Given the description of an element on the screen output the (x, y) to click on. 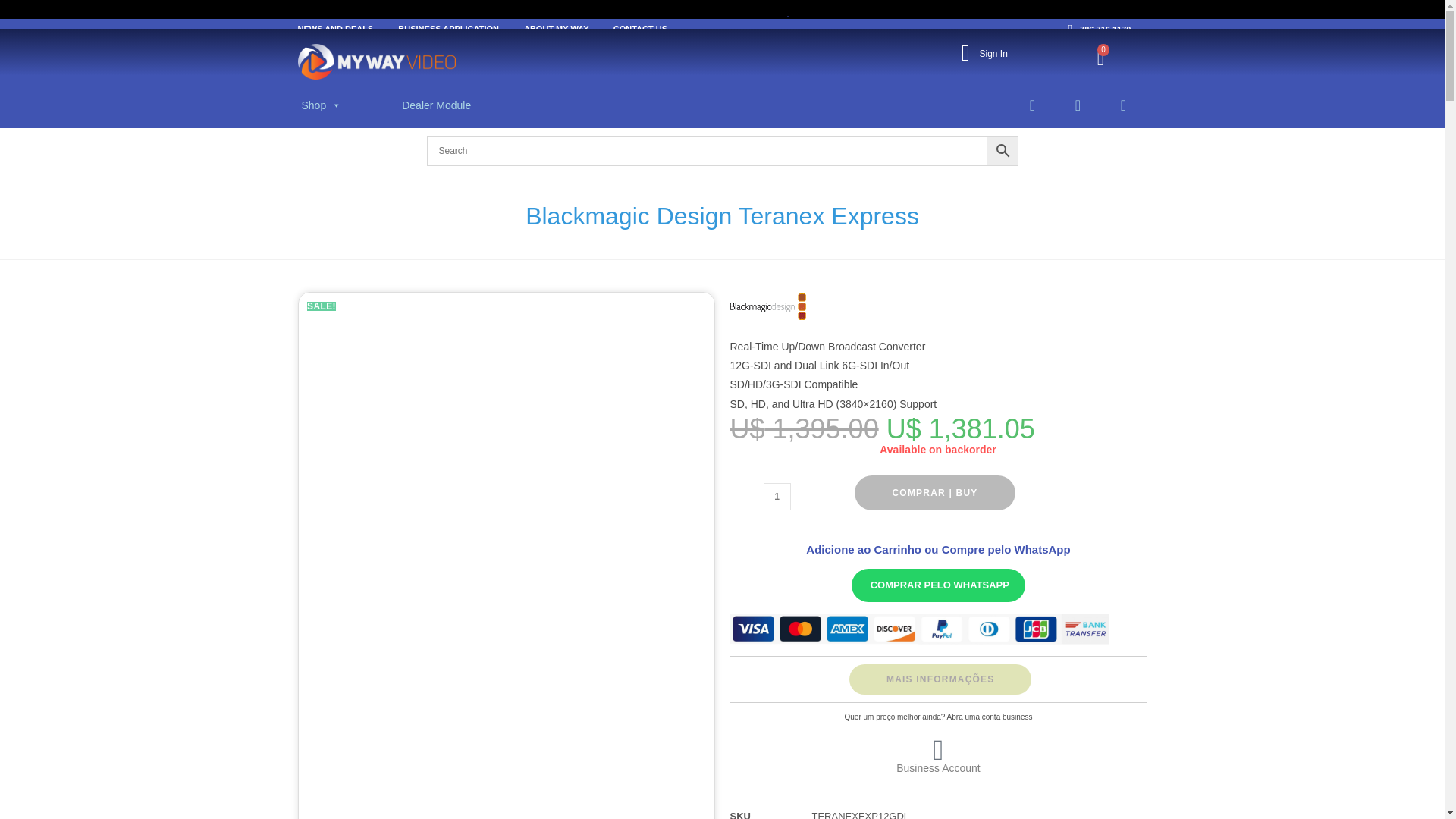
Sign In (993, 53)
NEWS AND DEALS (334, 28)
ABOUT MY WAY (556, 28)
BUSINESS APPLICATION (448, 28)
 786.716.1170 (1104, 29)
CONTACT US (639, 28)
Shop (321, 105)
1 (776, 496)
0 (1100, 58)
